Given the description of an element on the screen output the (x, y) to click on. 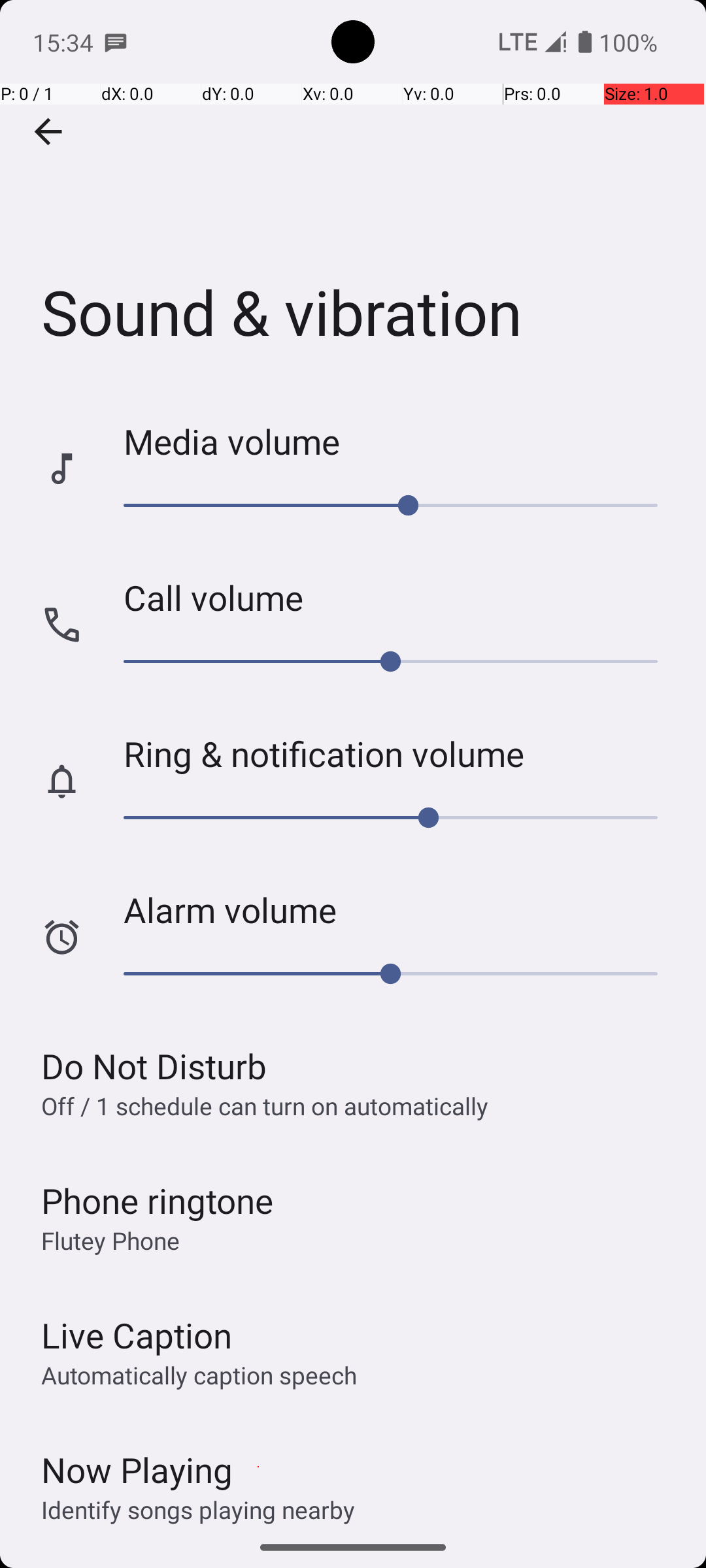
Off / 1 schedule can turn on automatically Element type: android.widget.TextView (264, 1105)
Now Playing Element type: android.widget.TextView (136, 1469)
Identify songs playing nearby Element type: android.widget.TextView (197, 1509)
